Given the description of an element on the screen output the (x, y) to click on. 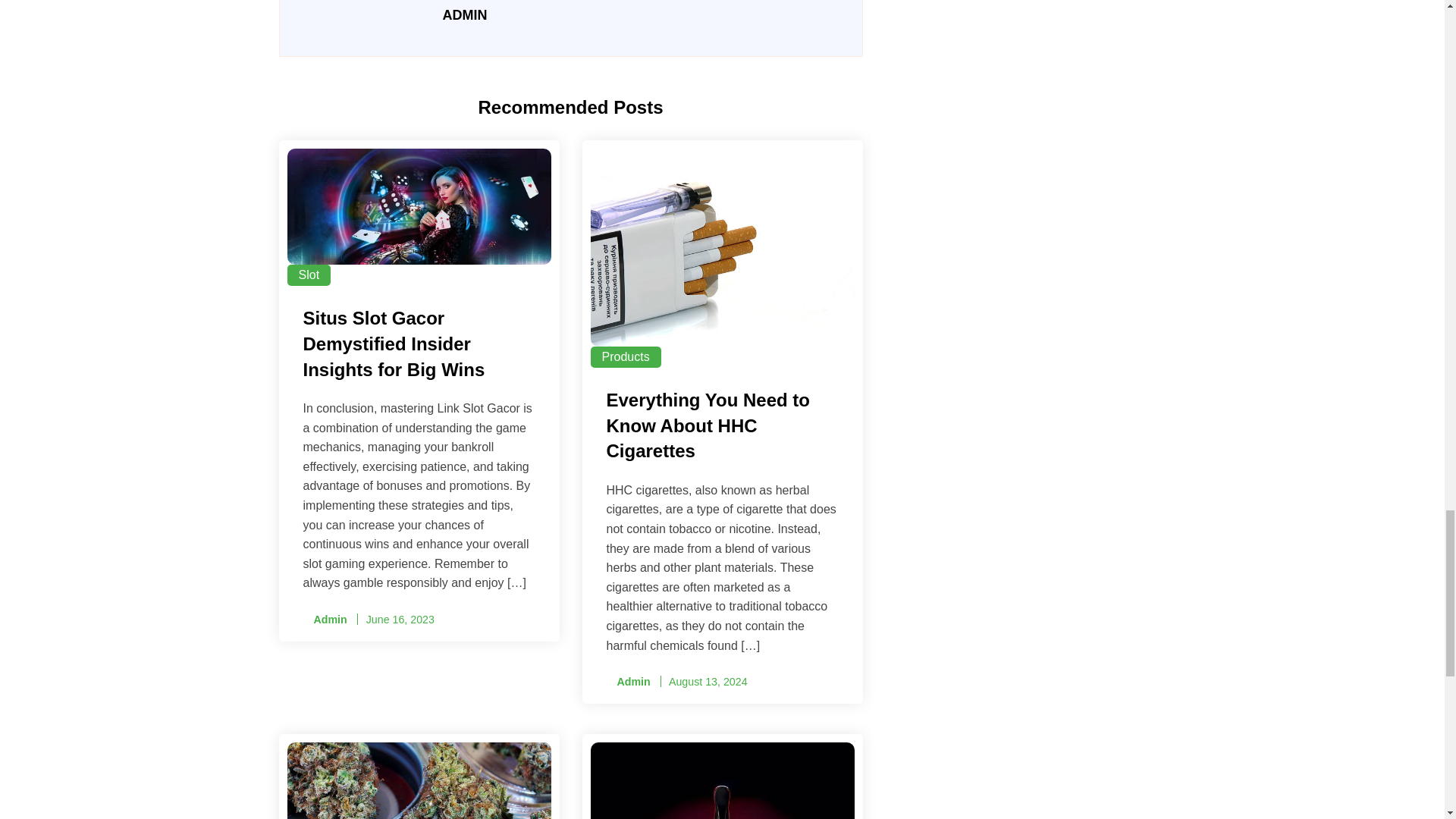
August 13, 2024 (708, 681)
Everything You Need to Know About HHC Cigarettes (722, 427)
June 16, 2023 (399, 619)
Admin (324, 619)
Situs Slot Gacor Demystified Insider Insights for Big Wins (418, 345)
Slot (308, 274)
Products (625, 356)
Admin (628, 682)
